Given the description of an element on the screen output the (x, y) to click on. 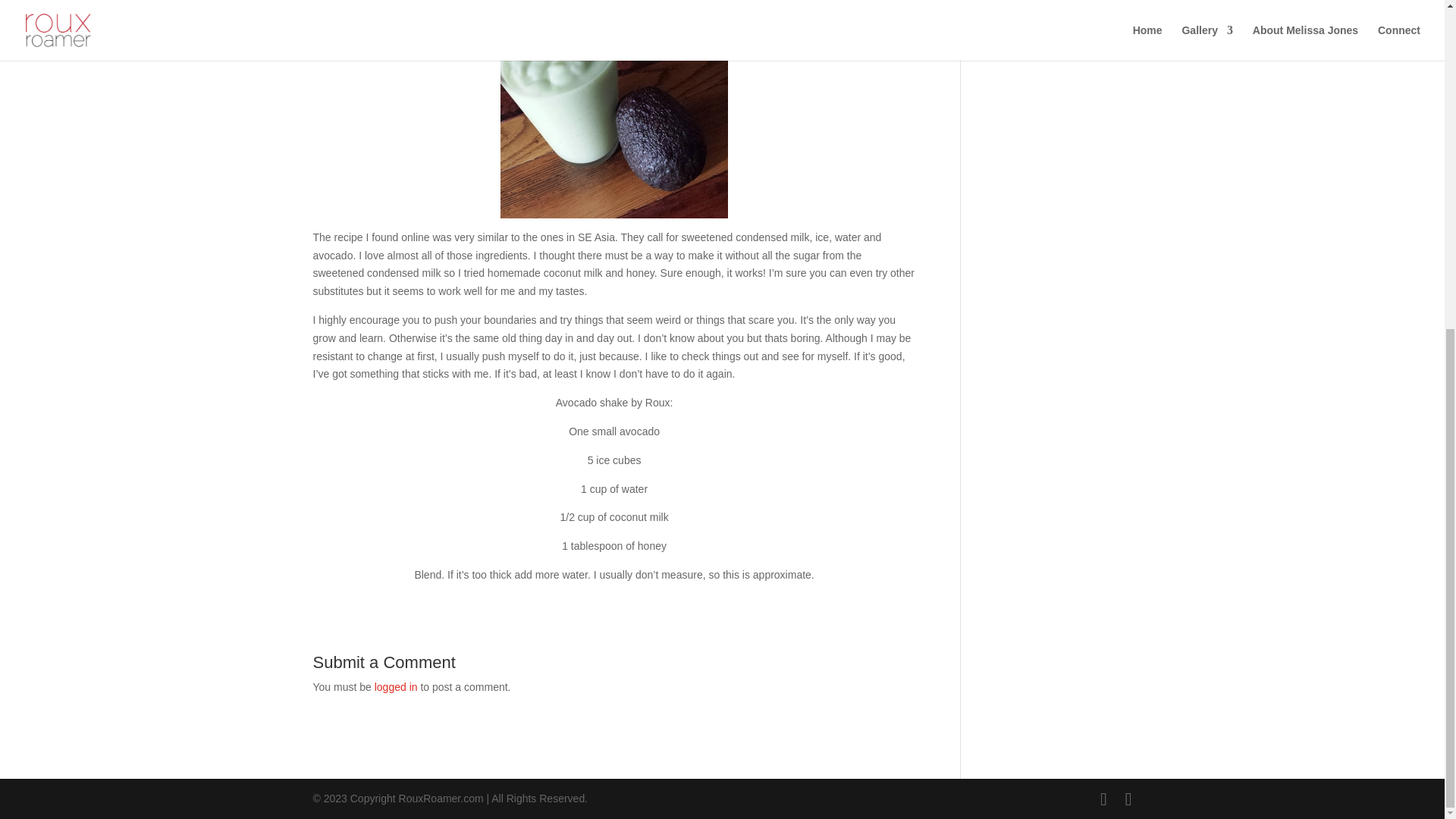
logged in (395, 686)
